Given the description of an element on the screen output the (x, y) to click on. 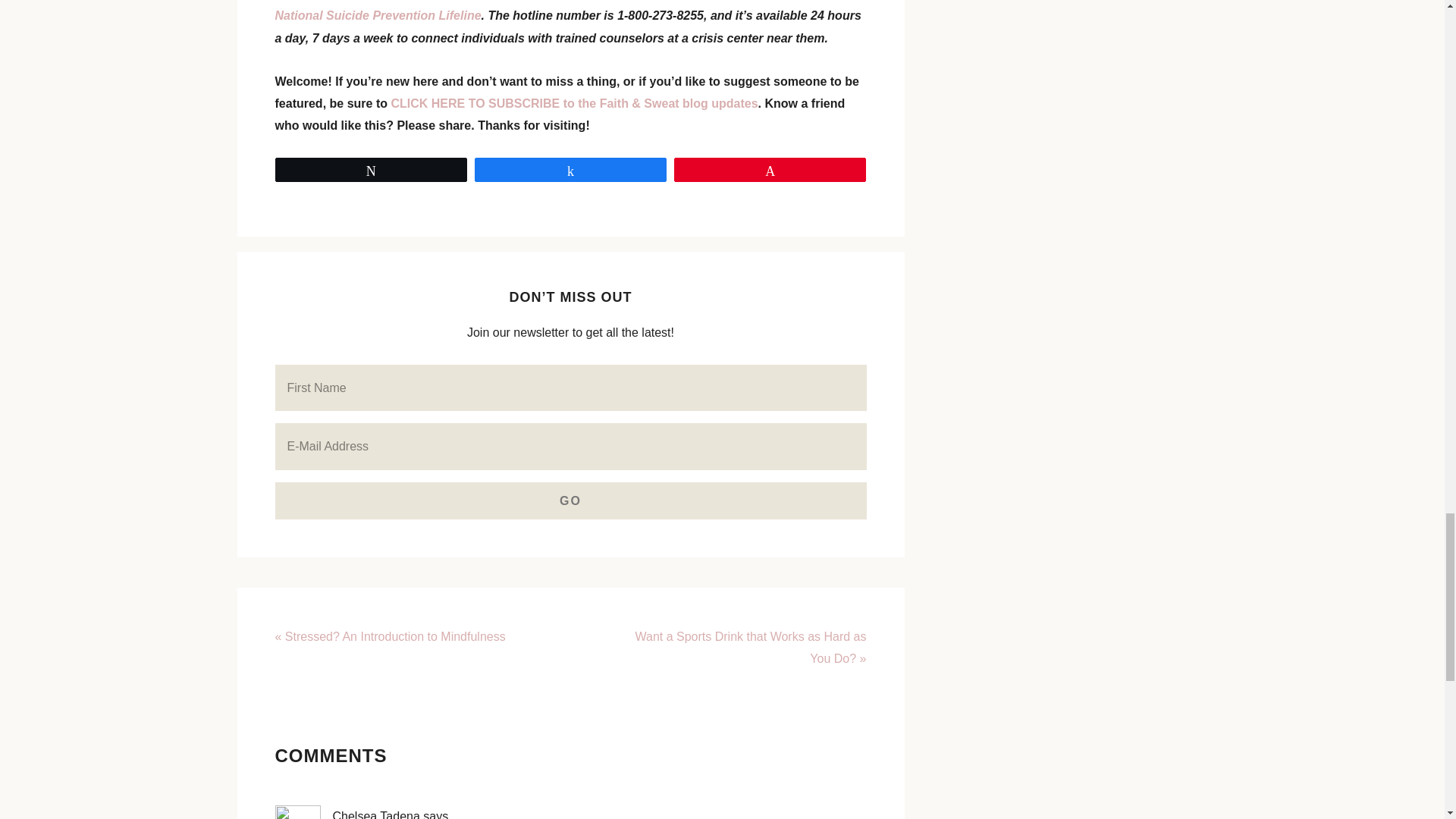
National Suicide Prevention Lifeline (377, 15)
Go (570, 500)
Go (570, 500)
